Given the description of an element on the screen output the (x, y) to click on. 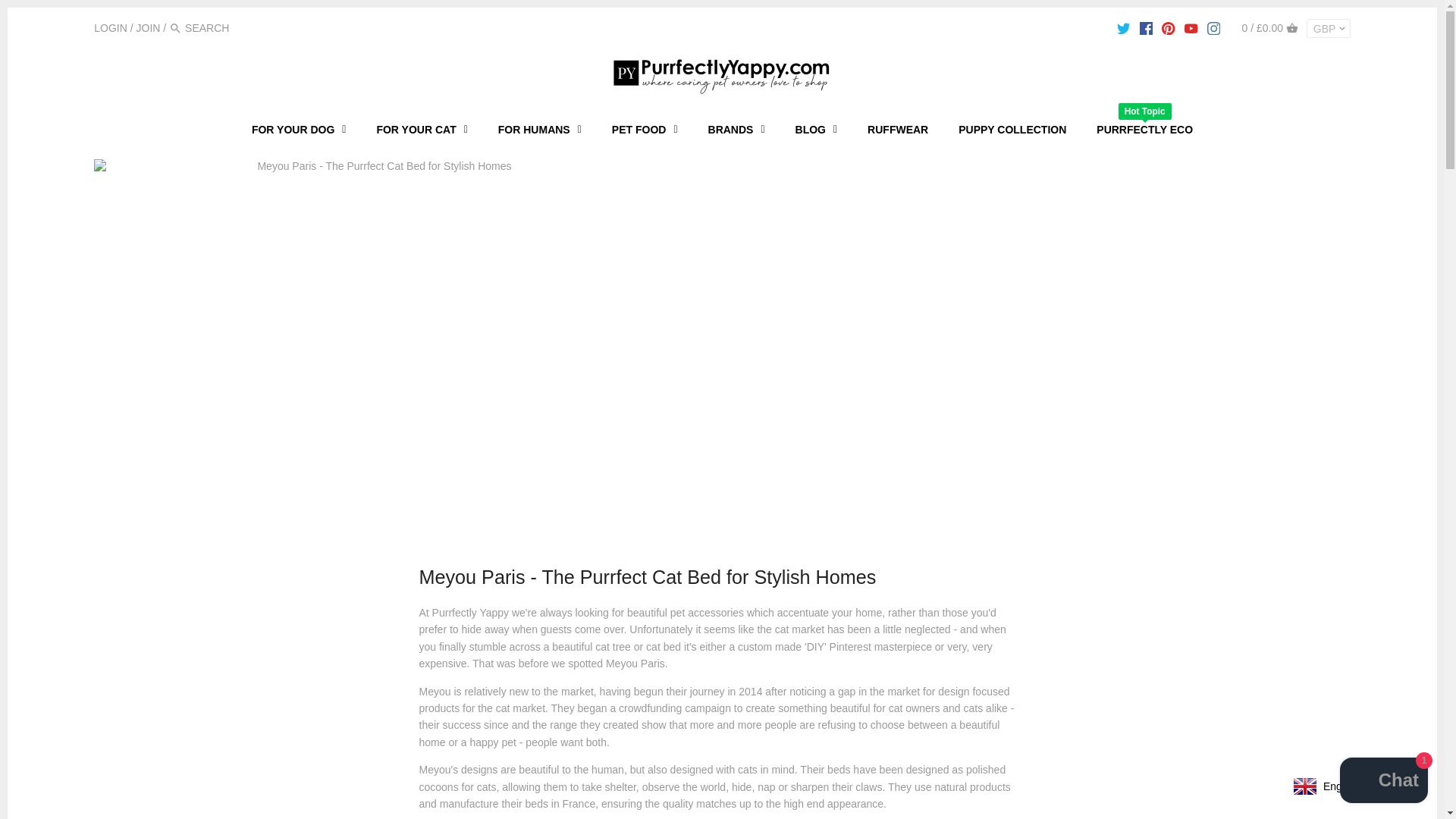
FACEBOOK (1146, 28)
FOR YOUR DOG (298, 129)
PINTEREST (1167, 28)
FOR YOUR DOG (298, 129)
TWITTER (1122, 28)
YOUTUBE (1191, 28)
INSTAGRAM (1213, 28)
JOIN (148, 28)
CART (1291, 28)
Search (175, 28)
LOGIN (111, 28)
